Given the description of an element on the screen output the (x, y) to click on. 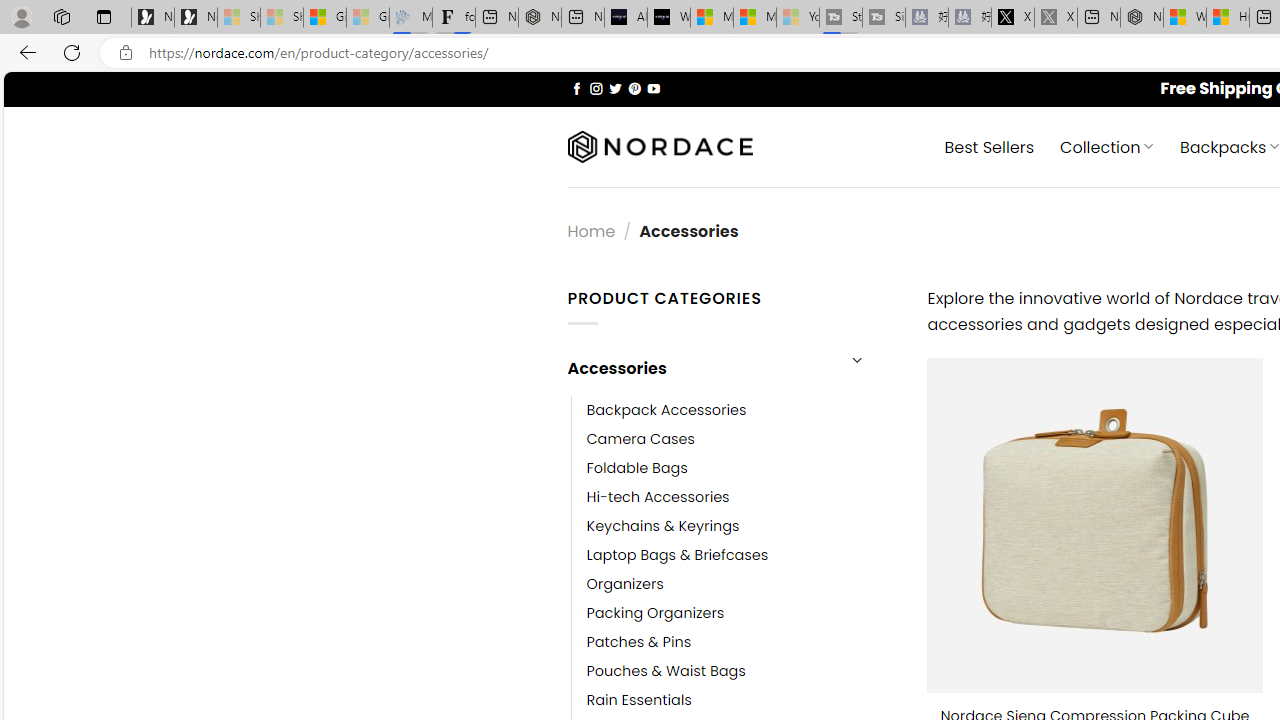
Rain Essentials (742, 700)
Keychains & Keyrings (742, 526)
Rain Essentials (639, 700)
Follow on Pinterest (634, 88)
Organizers (625, 584)
Hi-tech Accessories (742, 496)
Patches & Pins (639, 642)
Camera Cases (640, 439)
